Given the description of an element on the screen output the (x, y) to click on. 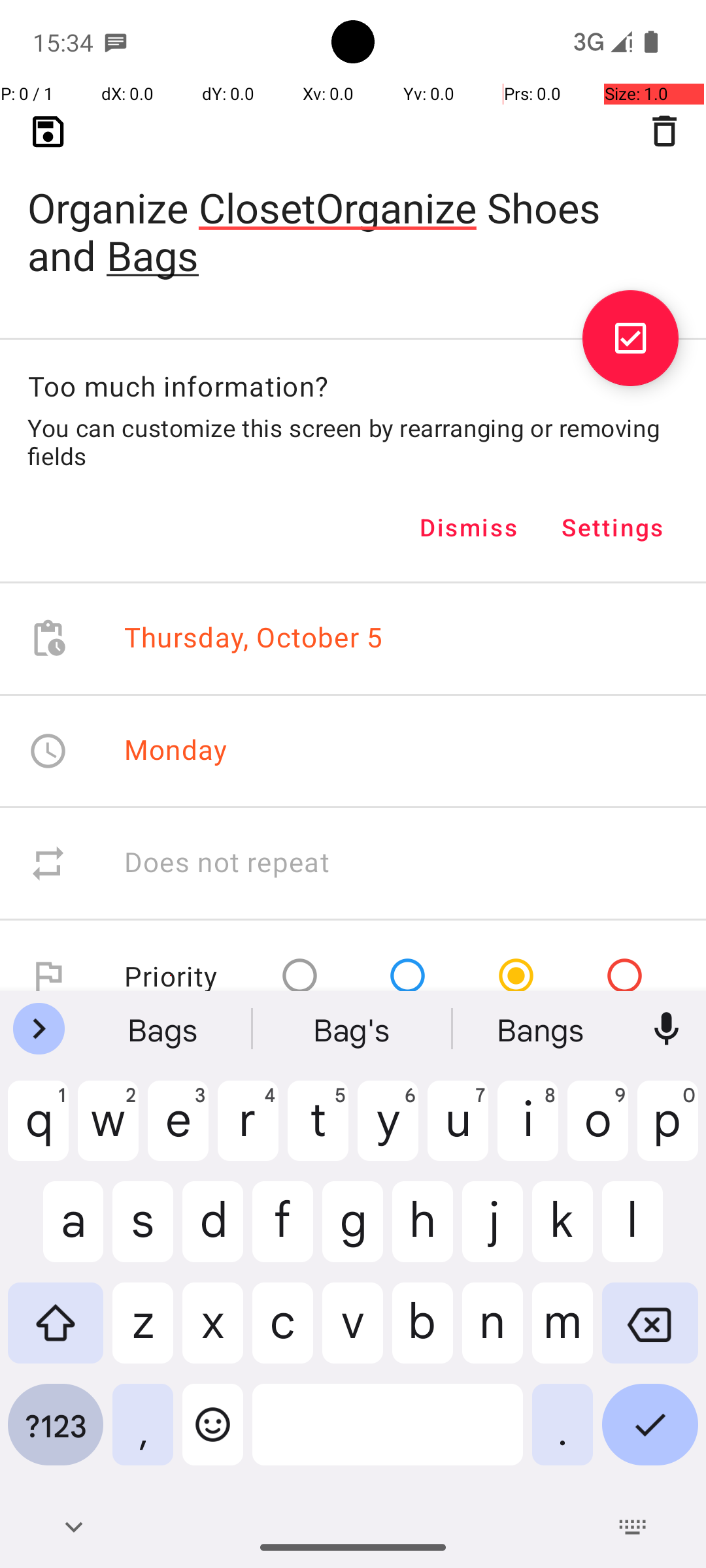
Organize ClosetOrganize Shoes and Bags Element type: android.widget.EditText (353, 210)
Delete task Element type: android.widget.Button (664, 131)
Too much information? Element type: android.widget.TextView (178, 385)
You can customize this screen by rearranging or removing fields Element type: android.widget.TextView (352, 441)
Dismiss Element type: android.widget.TextView (468, 526)
Thursday, October 5 Element type: android.widget.TextView (253, 638)
Does not repeat Element type: android.widget.TextView (226, 862)
Bags Element type: android.widget.FrameLayout (163, 1028)
Bagels Element type: android.widget.FrameLayout (541, 1028)
